Given the description of an element on the screen output the (x, y) to click on. 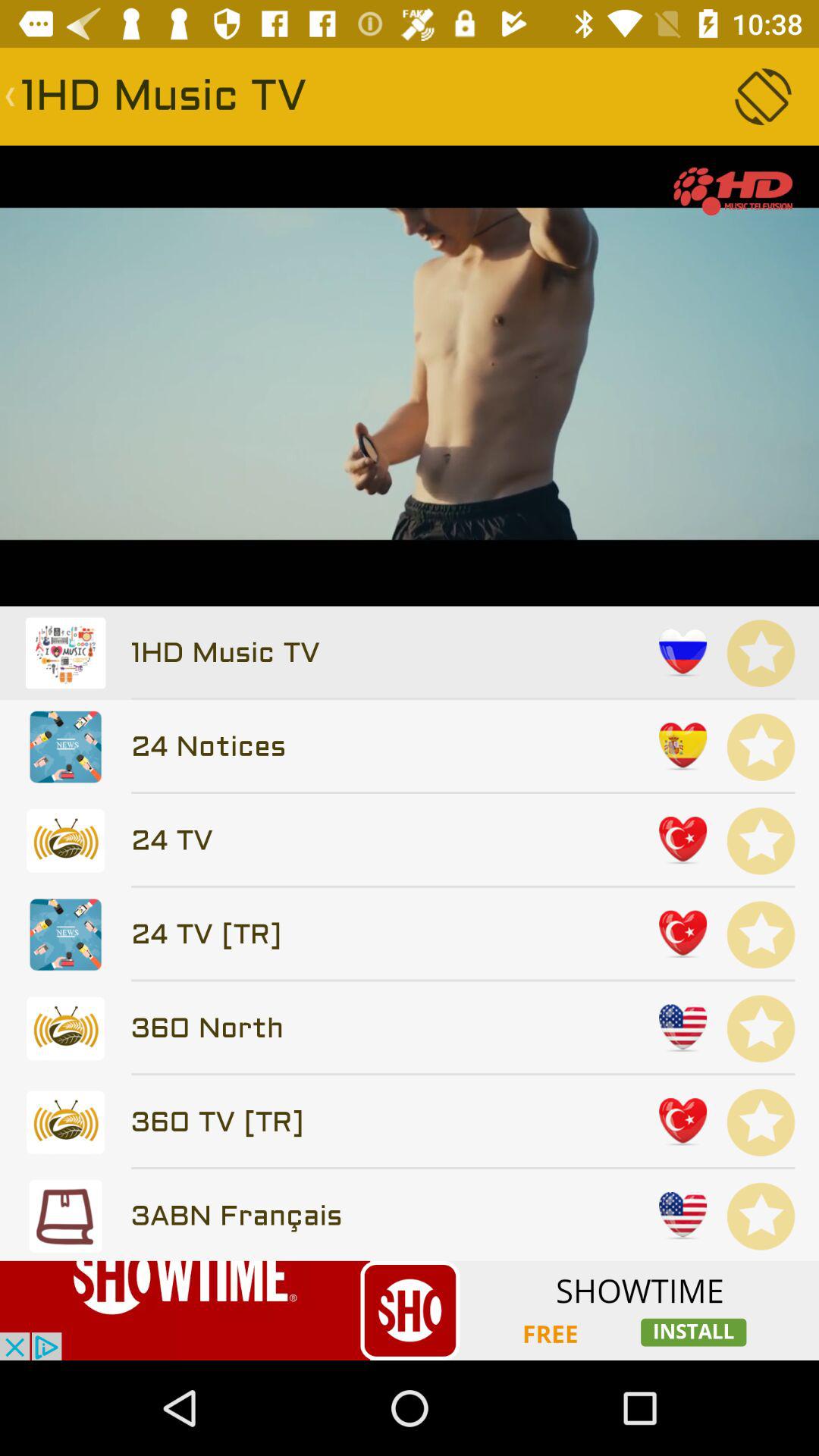
open advertisement (409, 1310)
